Given the description of an element on the screen output the (x, y) to click on. 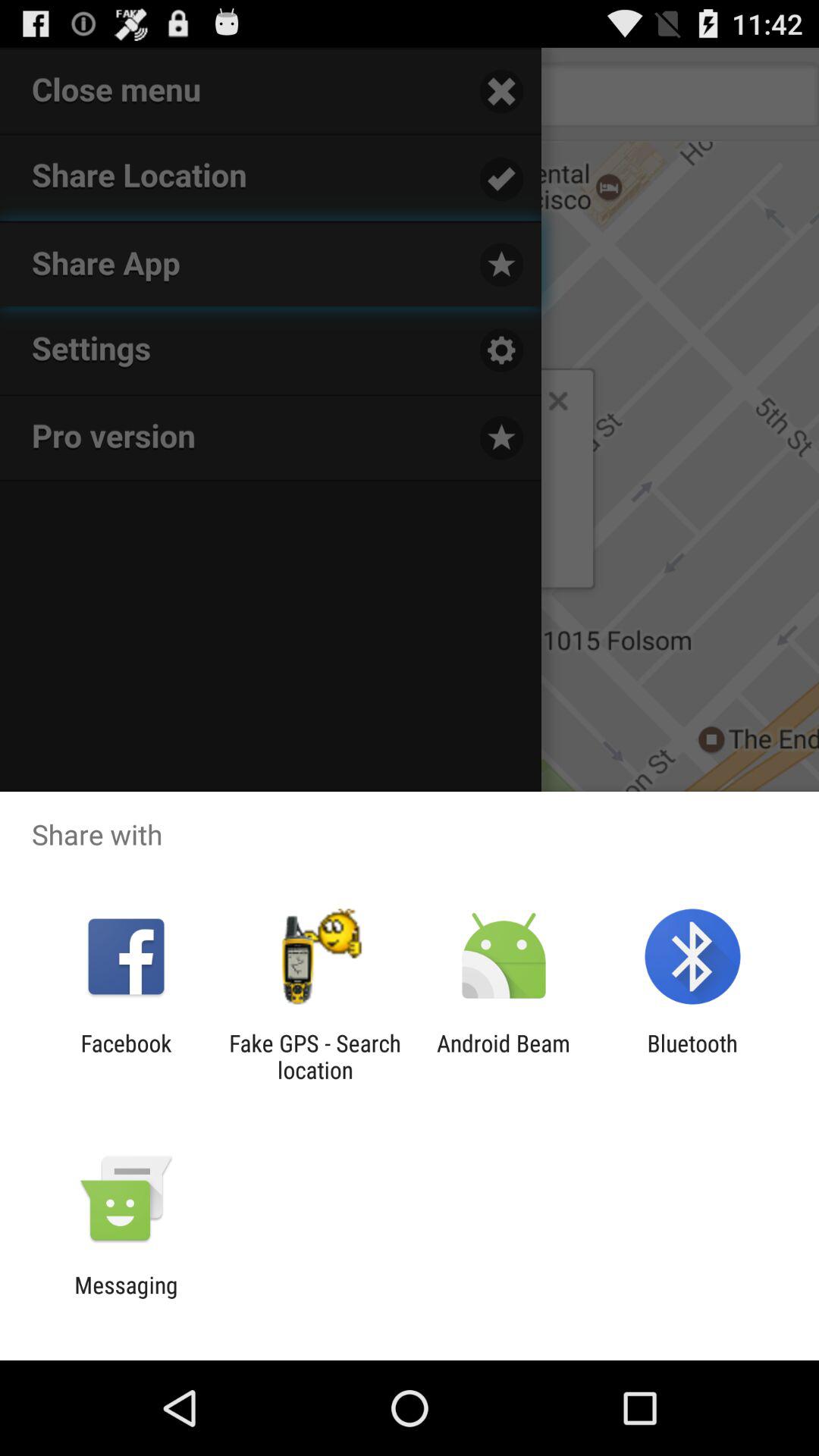
tap app next to the fake gps search (503, 1056)
